Given the description of an element on the screen output the (x, y) to click on. 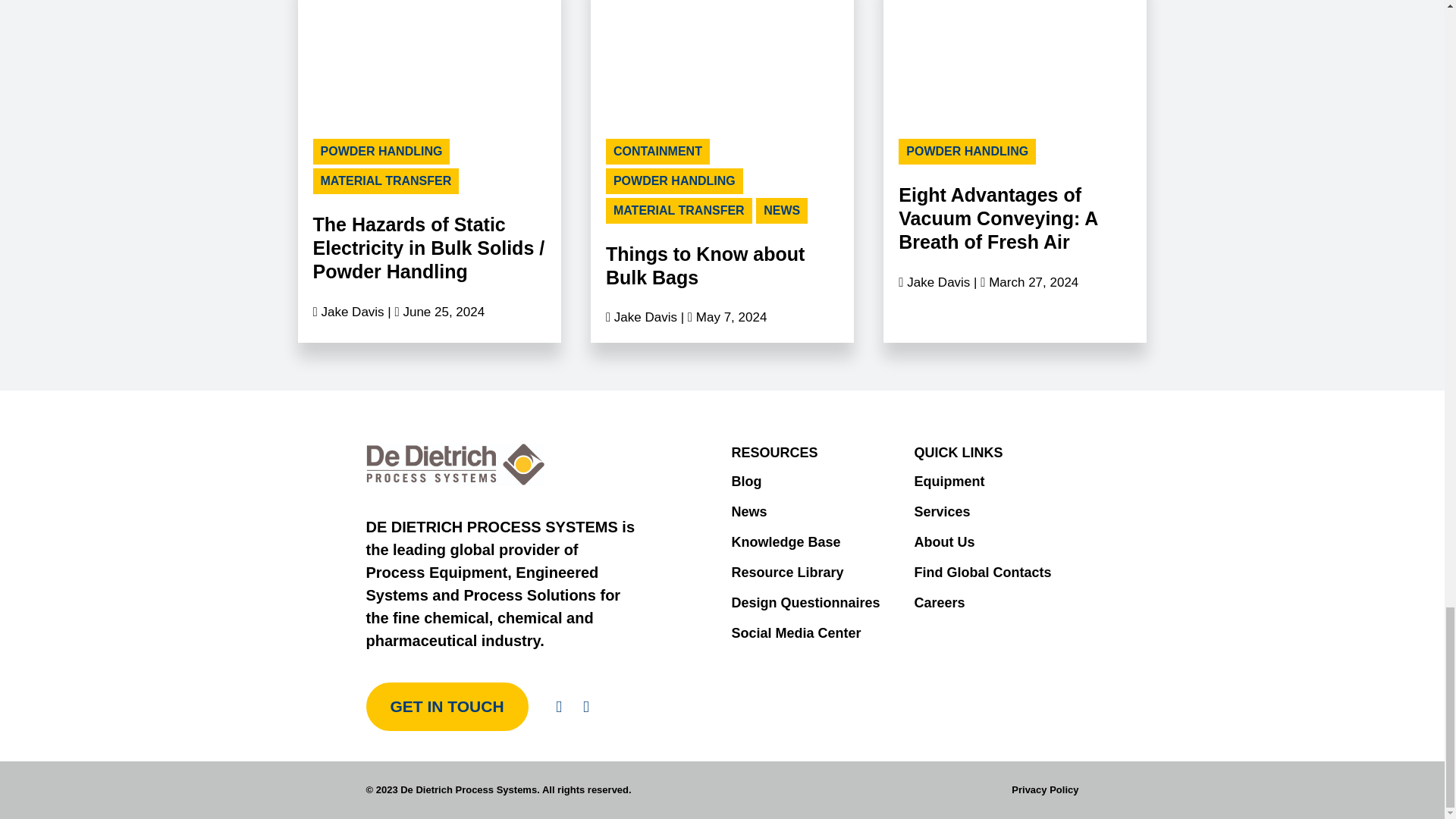
De Dietrich Process System (454, 464)
